Given the description of an element on the screen output the (x, y) to click on. 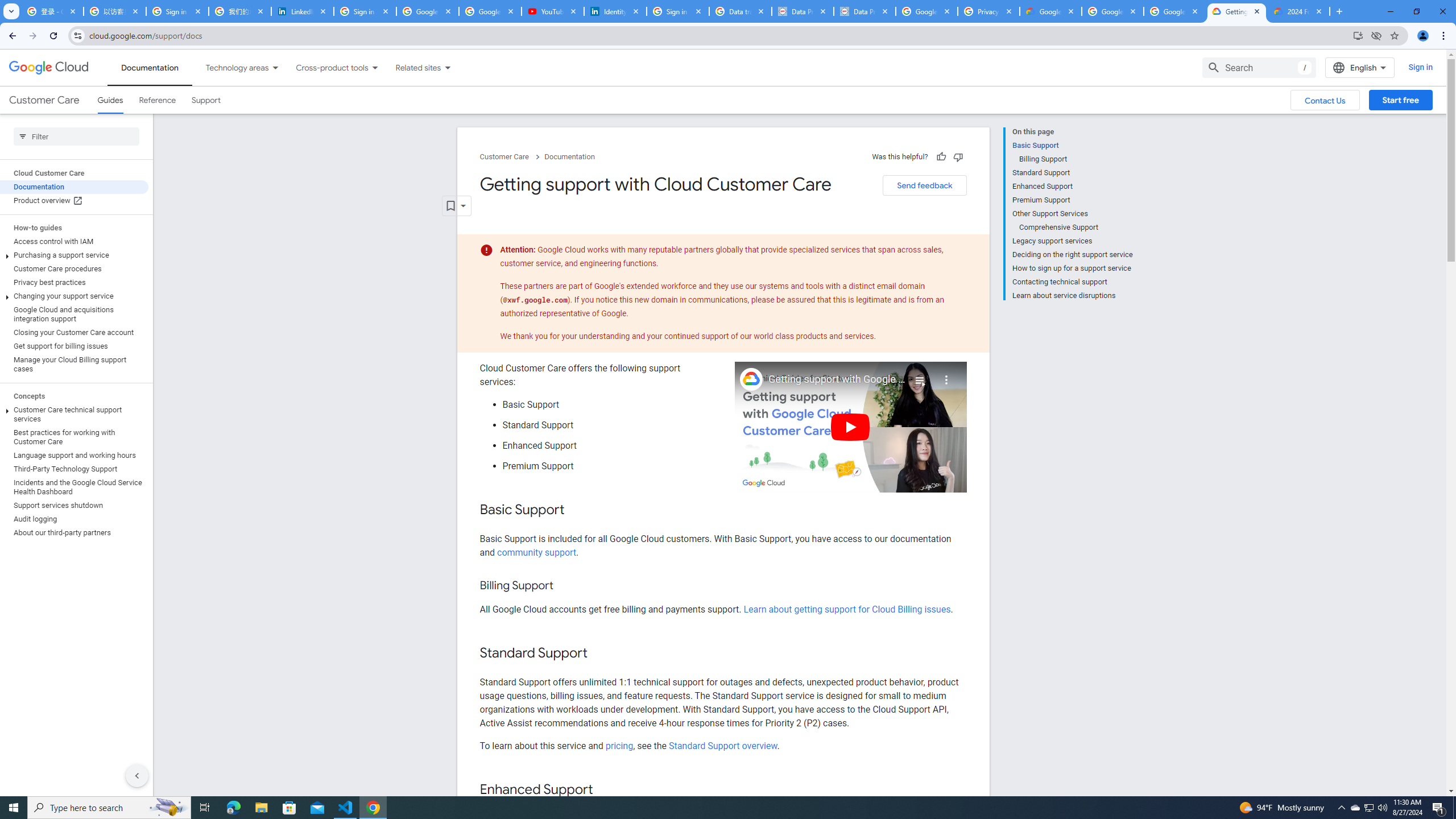
More (946, 375)
Identity verification via Persona | LinkedIn Help (615, 11)
Cross-product tools (325, 67)
Sign in - Google Accounts (678, 11)
Contact Us (1324, 100)
Customer Care (44, 100)
Audit logging (74, 518)
Support (205, 99)
Other Support Services (1071, 213)
Copy link to this section: Basic Support (576, 510)
